Given the description of an element on the screen output the (x, y) to click on. 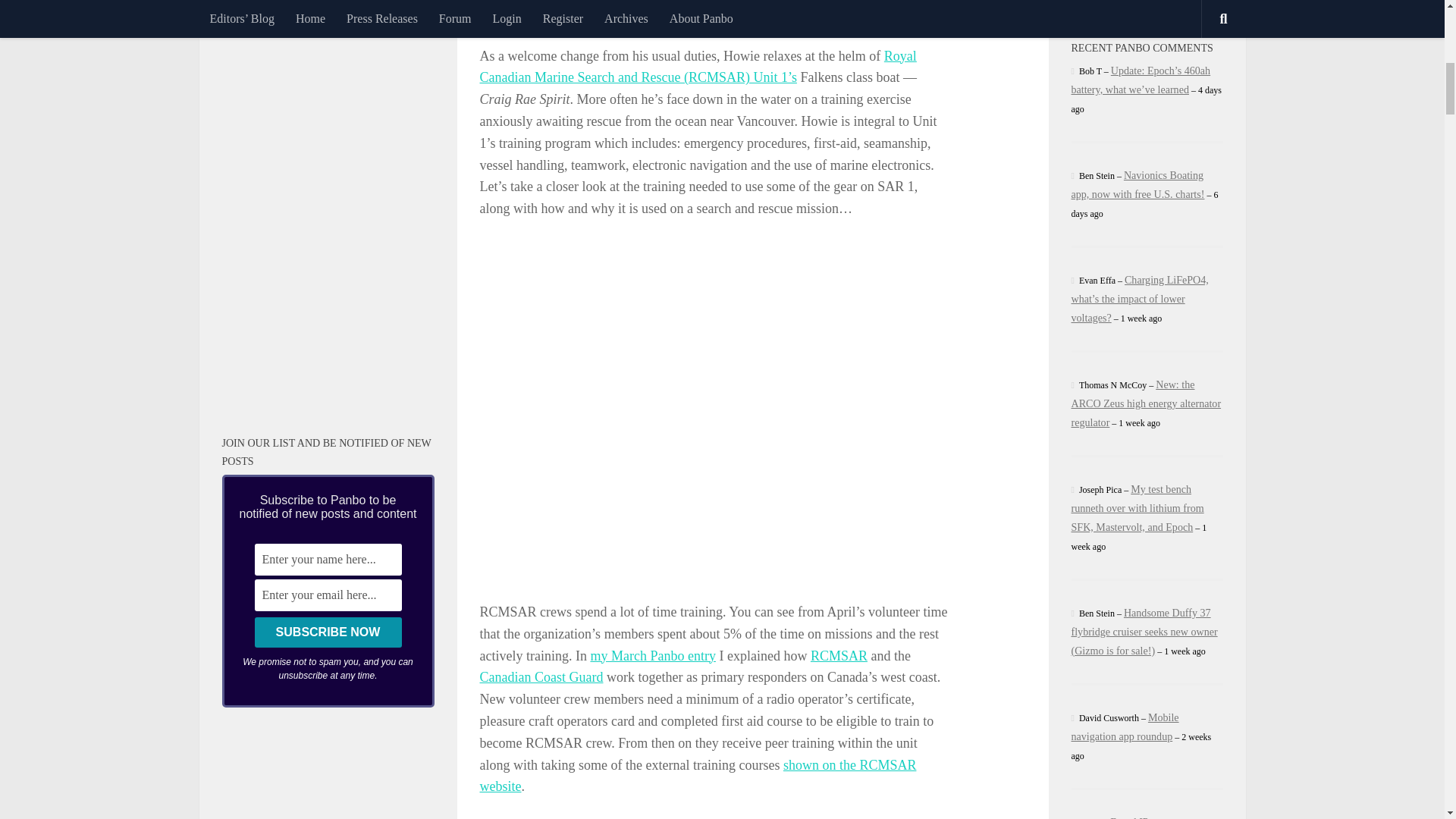
Subscribe Now (327, 632)
shown on the RCMSAR website (697, 775)
Canadian Coast Guard (540, 676)
RCMSAR (838, 655)
my March Panbo entry (651, 655)
